Given the description of an element on the screen output the (x, y) to click on. 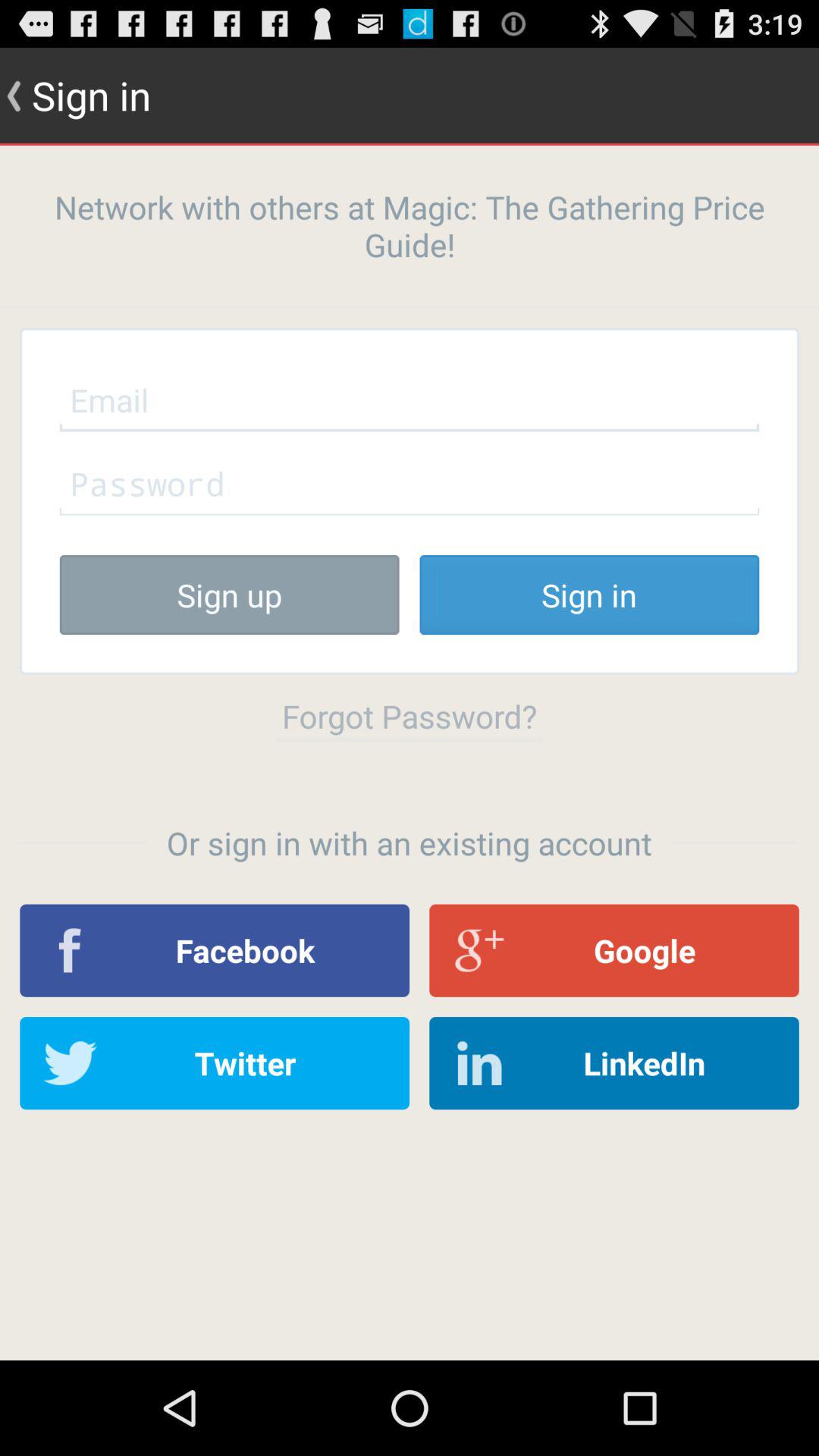
select the icon at the bottom left corner (214, 1062)
